Given the description of an element on the screen output the (x, y) to click on. 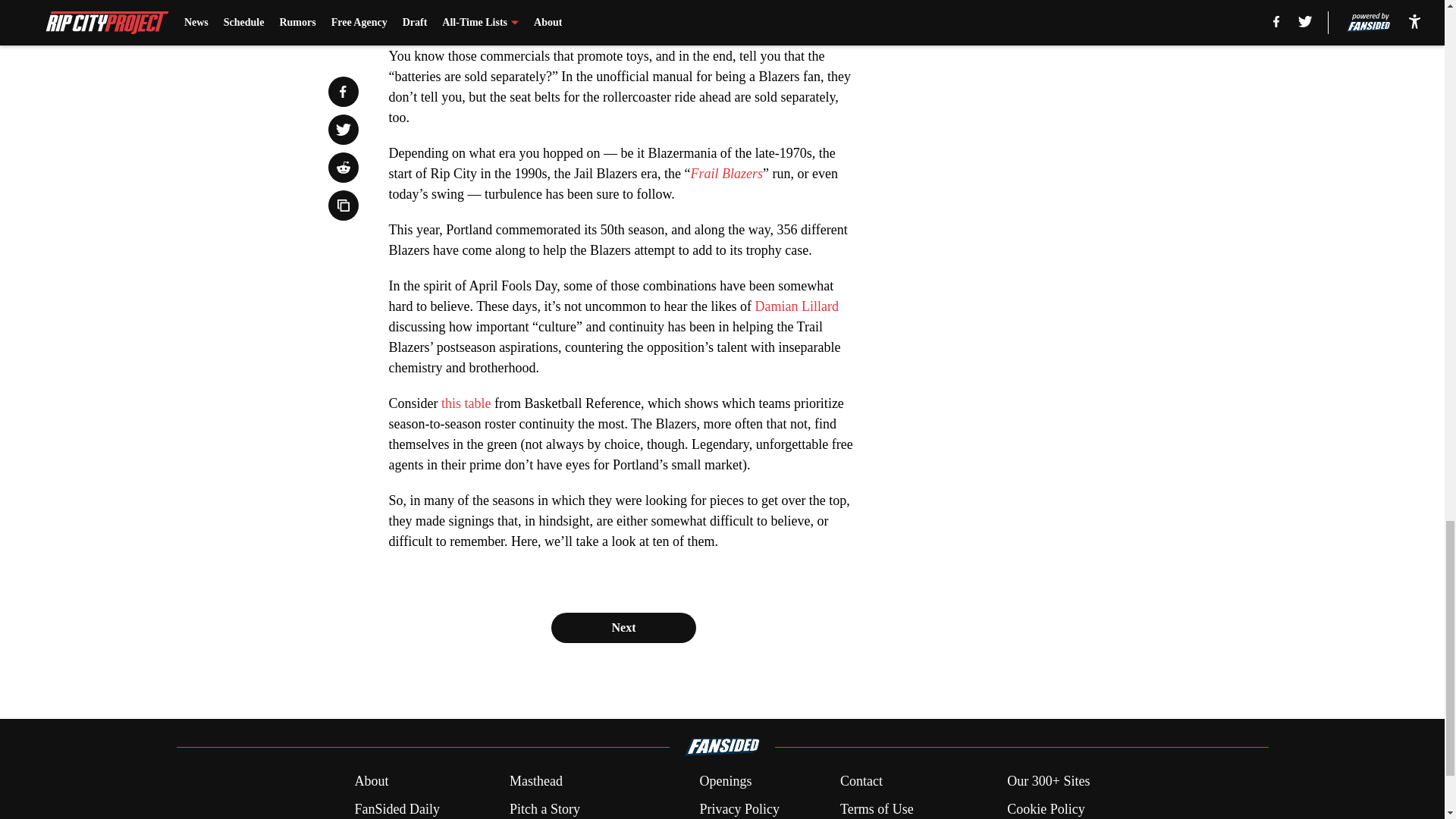
Frail Blazers (726, 173)
Next (622, 627)
Damian Lillard (796, 305)
Contact (861, 781)
this table (466, 403)
uttered nine words (503, 3)
Masthead (535, 781)
Openings (724, 781)
About (370, 781)
